Given the description of an element on the screen output the (x, y) to click on. 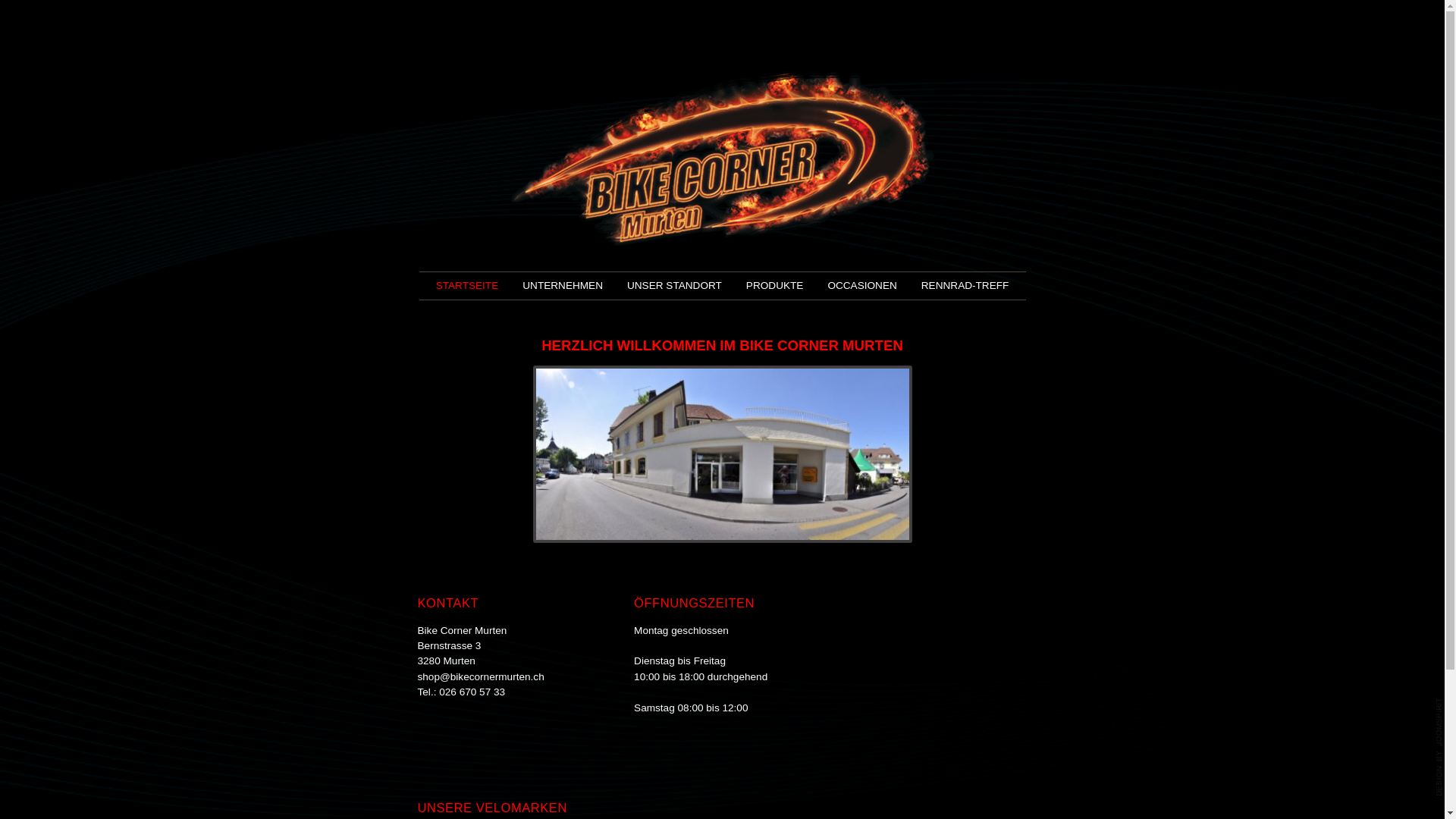
www.template-joomspirit.com Element type: text (1439, 746)
OCCASIONEN Element type: text (861, 285)
UNSER STANDORT Element type: text (674, 285)
UNTERNEHMEN Element type: text (562, 285)
RENNRAD-TREFF Element type: text (965, 285)
STARTSEITE Element type: text (467, 285)
PRODUKTE Element type: text (774, 285)
